Given the description of an element on the screen output the (x, y) to click on. 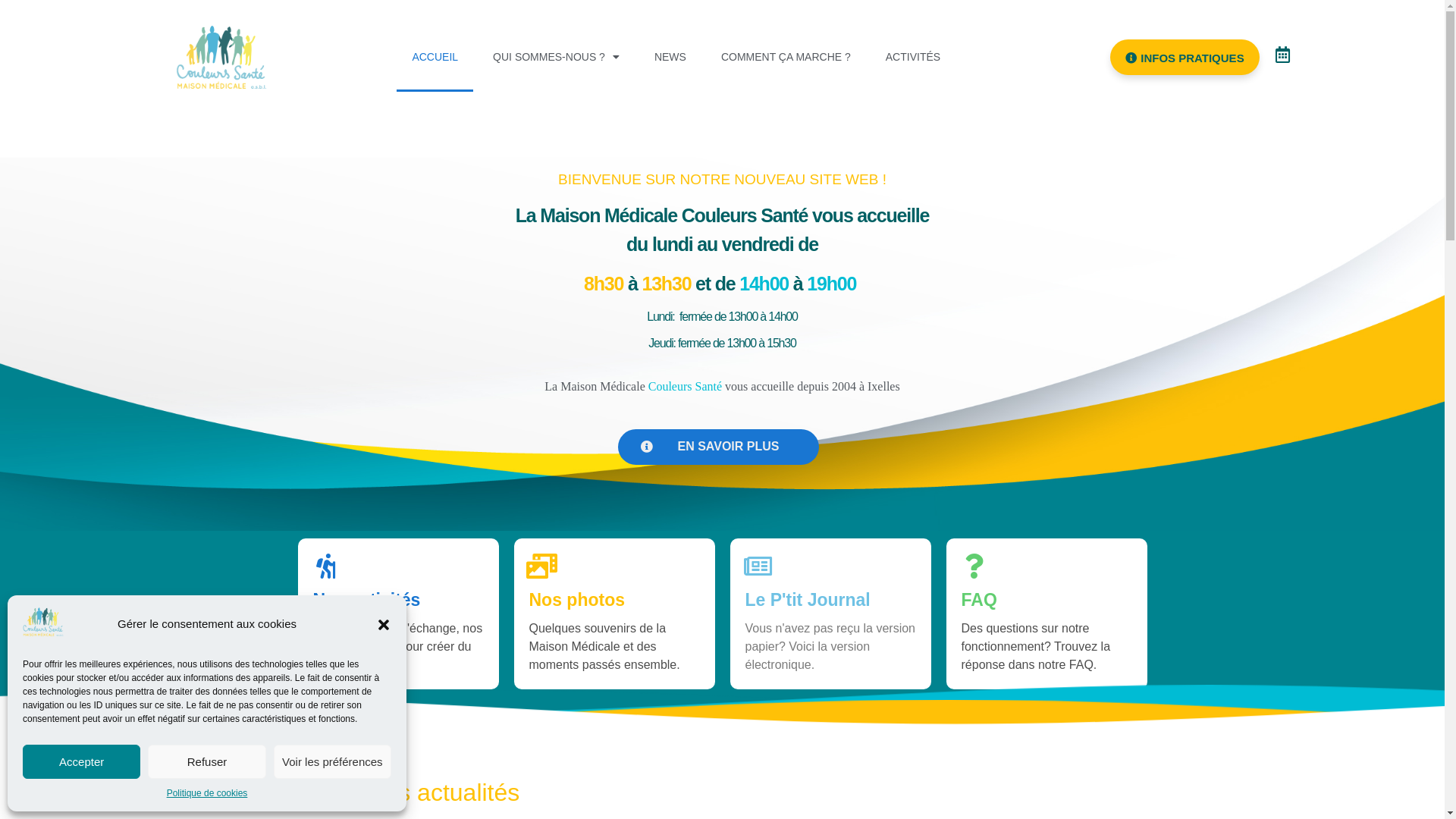
Accepter Element type: text (81, 761)
Nos photos Element type: text (577, 599)
Le P'tit Journal Element type: text (806, 599)
QUI SOMMES-NOUS ? Element type: text (555, 56)
FAQ Element type: text (979, 599)
EN SAVOIR PLUS Element type: text (718, 446)
Politique de cookies Element type: text (206, 793)
NEWS Element type: text (670, 56)
INFOS PRATIQUES Element type: text (1184, 57)
ACCUEIL Element type: text (434, 56)
Refuser Element type: text (206, 761)
